Given the description of an element on the screen output the (x, y) to click on. 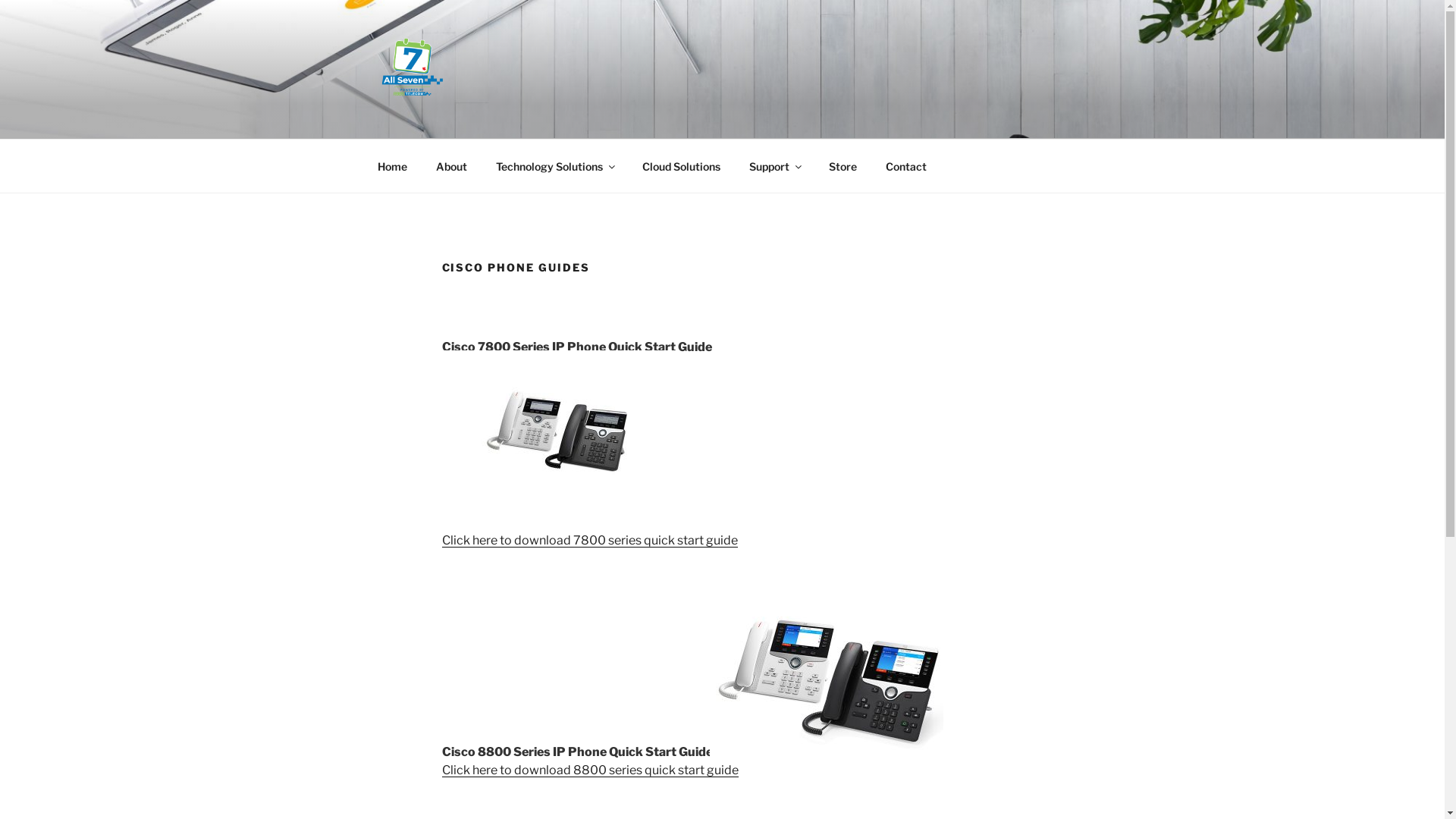
Contact Element type: text (905, 165)
Support Element type: text (773, 165)
Skip to content Element type: text (0, 0)
Click here to download 7800 series quick start guide Element type: text (589, 540)
Technology Solutions Element type: text (554, 165)
ALL 7 TECH SOLUTIONS Element type: text (566, 118)
Store Element type: text (842, 165)
Cloud Solutions Element type: text (681, 165)
Click here to download 8800 series quick start guide Element type: text (589, 769)
Home Element type: text (392, 165)
About Element type: text (451, 165)
